Given the description of an element on the screen output the (x, y) to click on. 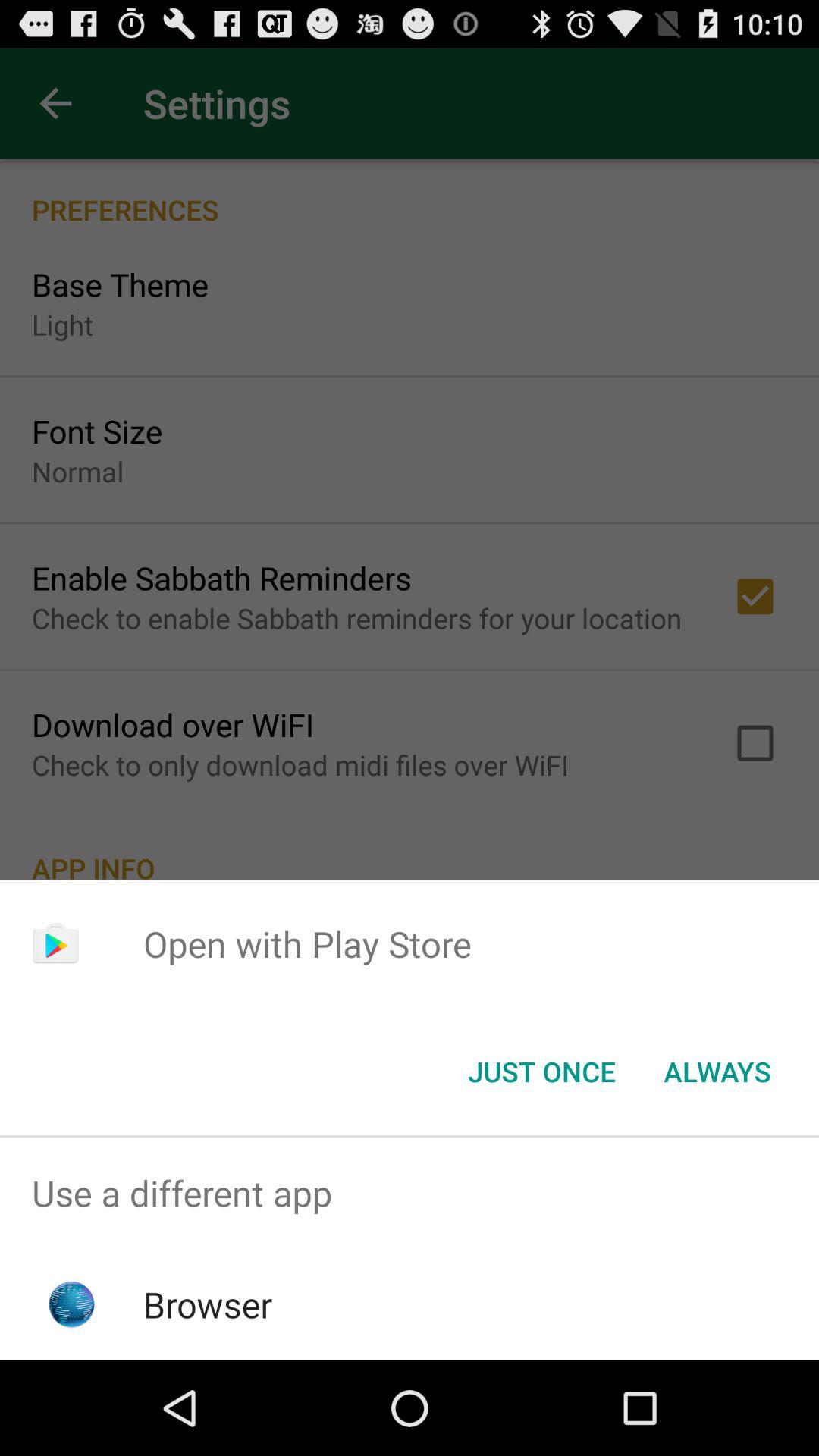
open just once button (541, 1071)
